Given the description of an element on the screen output the (x, y) to click on. 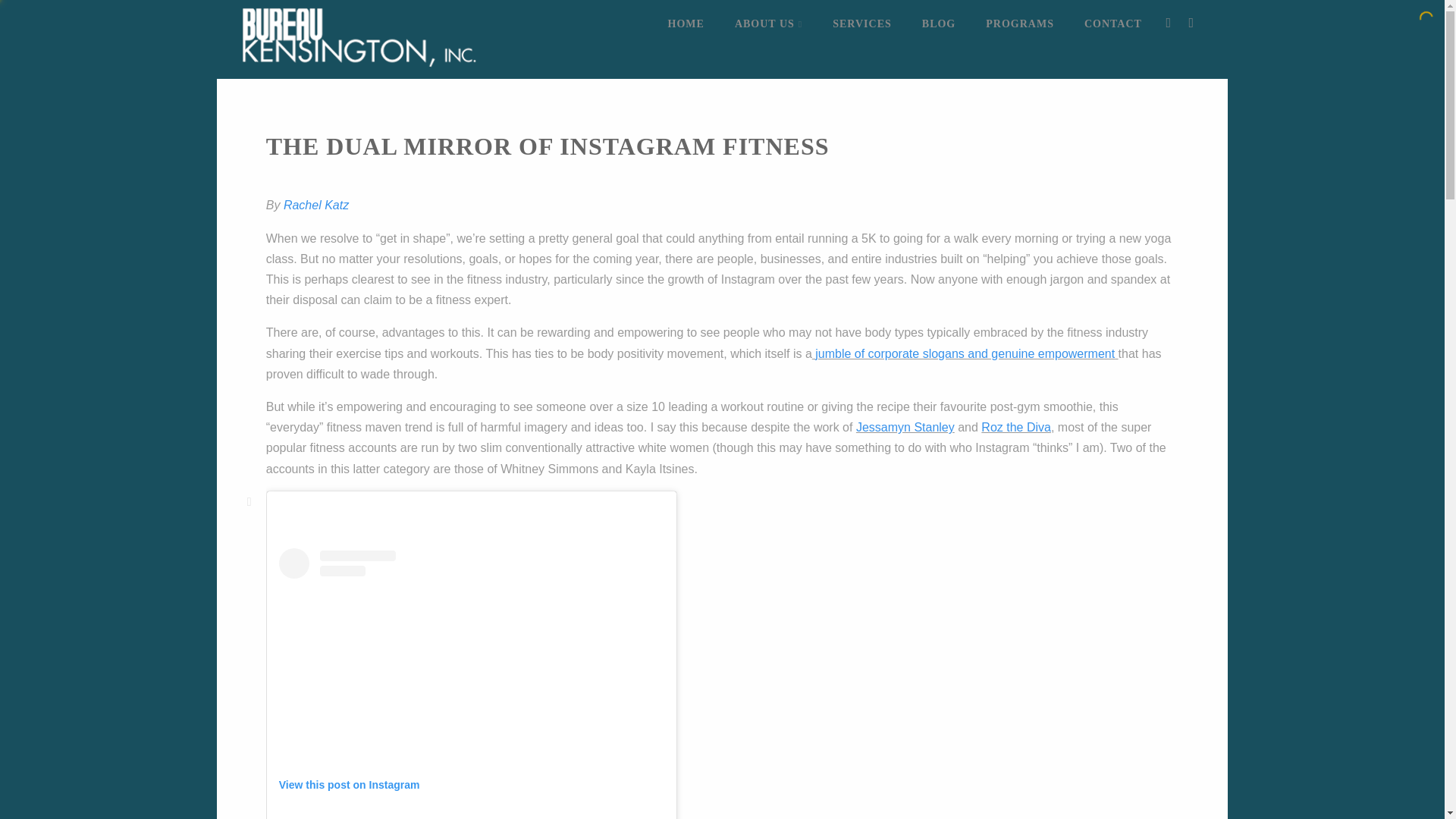
HOME (685, 24)
Jessamyn Stanley (905, 427)
PROGRAMS (1019, 24)
jumble of corporate slogans and genuine empowerment (963, 353)
Roz the Diva (1016, 427)
SERVICES (861, 24)
Bureau Kensington, Inc (360, 71)
BLOG (939, 24)
CONTACT (1112, 24)
Rachel Katz (316, 205)
